Given the description of an element on the screen output the (x, y) to click on. 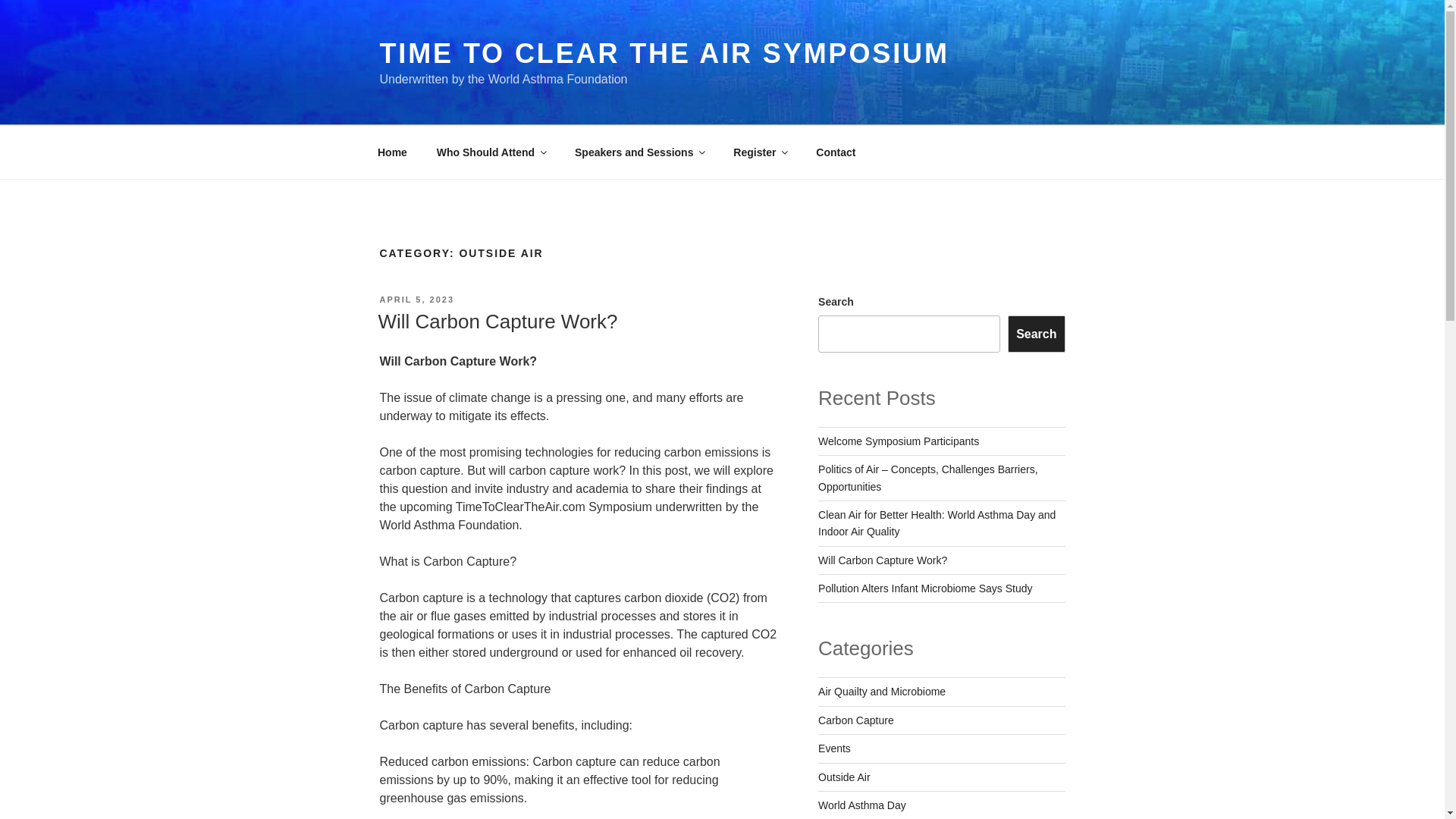
Outside Air (843, 776)
Home (392, 151)
Air Quailty and Microbiome (881, 691)
Pollution Alters Infant Microbiome Says Study (925, 588)
Events (834, 748)
Will Carbon Capture Work? (497, 321)
TIME TO CLEAR THE AIR SYMPOSIUM (663, 52)
Search (1035, 333)
World Asthma Day (861, 805)
Register (759, 151)
Speakers and Sessions (639, 151)
Contact (836, 151)
Welcome Symposium Participants (898, 440)
Who Should Attend (490, 151)
